Given the description of an element on the screen output the (x, y) to click on. 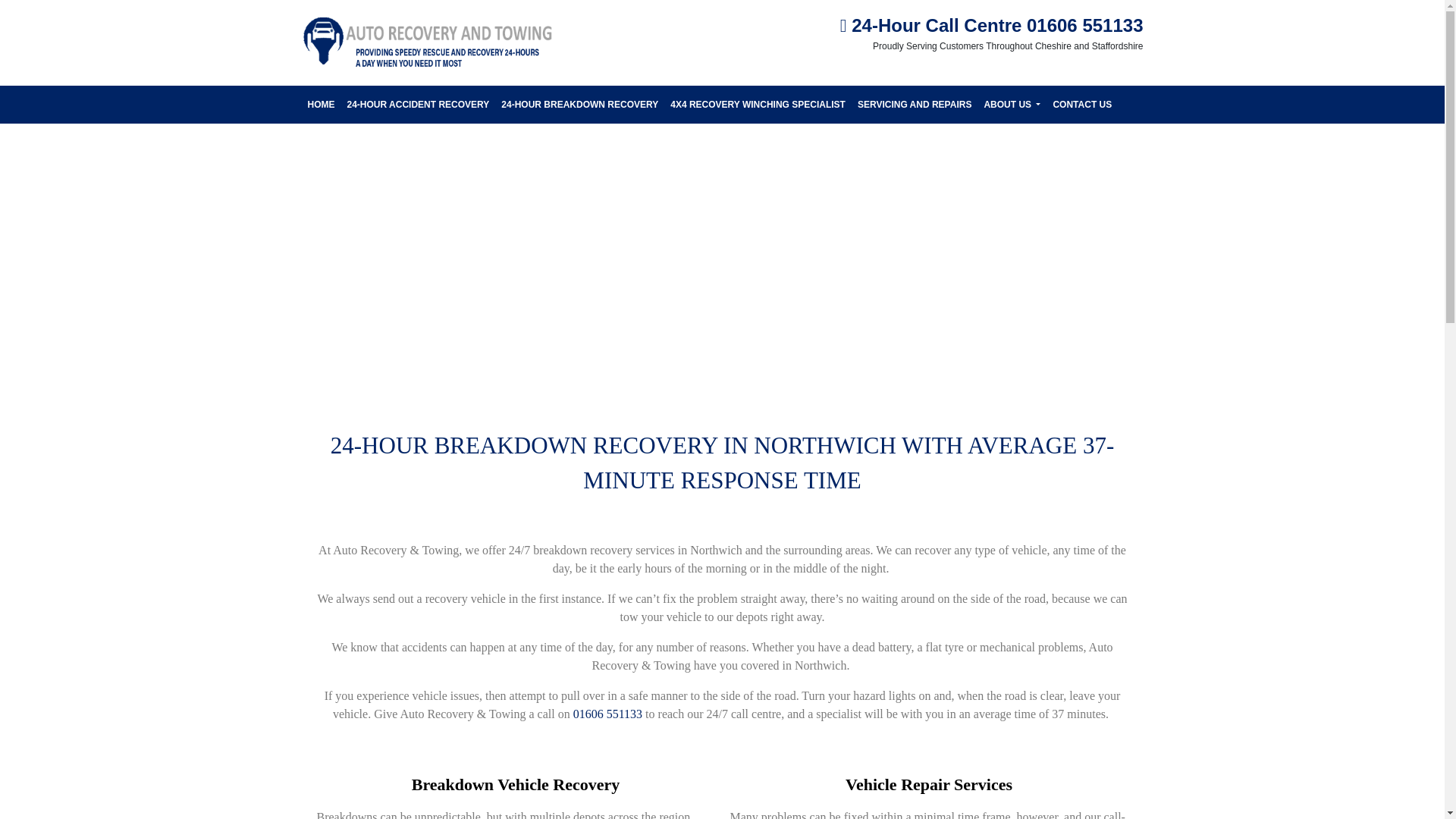
4X4 RECOVERY WINCHING SPECIALIST (757, 104)
SERVICING AND REPAIRS (913, 104)
24-HOUR ACCIDENT RECOVERY (418, 104)
ABOUT US (1011, 104)
Servicing and Repairs (913, 104)
24-hour Accident Recovery (418, 104)
CONTACT US (1082, 104)
Contact Us (1082, 104)
4X4 Recovery Winching Specialist (757, 104)
01606 551133 (607, 713)
